Given the description of an element on the screen output the (x, y) to click on. 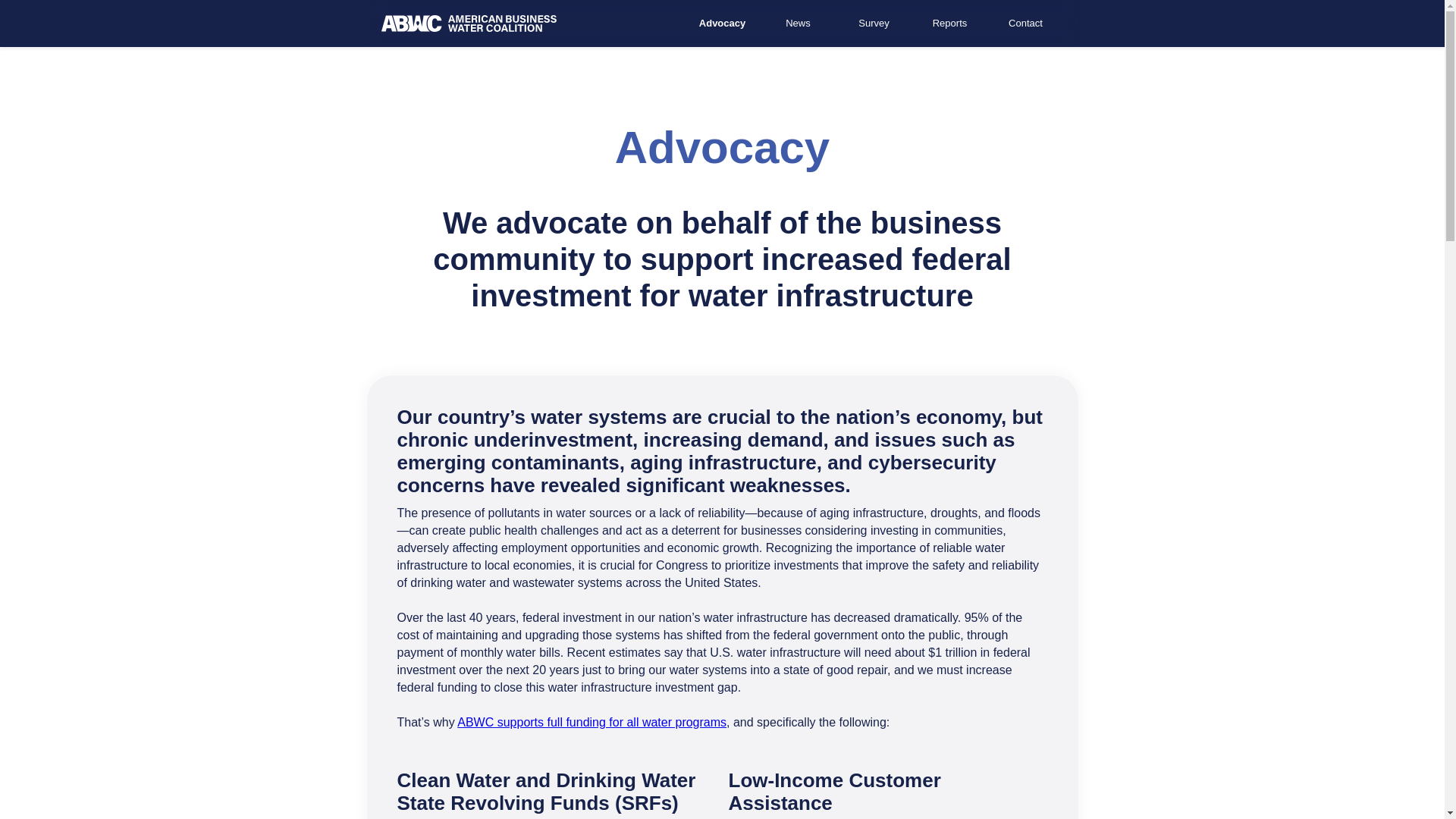
Survey (873, 22)
Advocacy (722, 22)
Contact (1024, 22)
Reports (949, 22)
ABWC supports full funding for all water programs (591, 721)
News (797, 22)
